Given the description of an element on the screen output the (x, y) to click on. 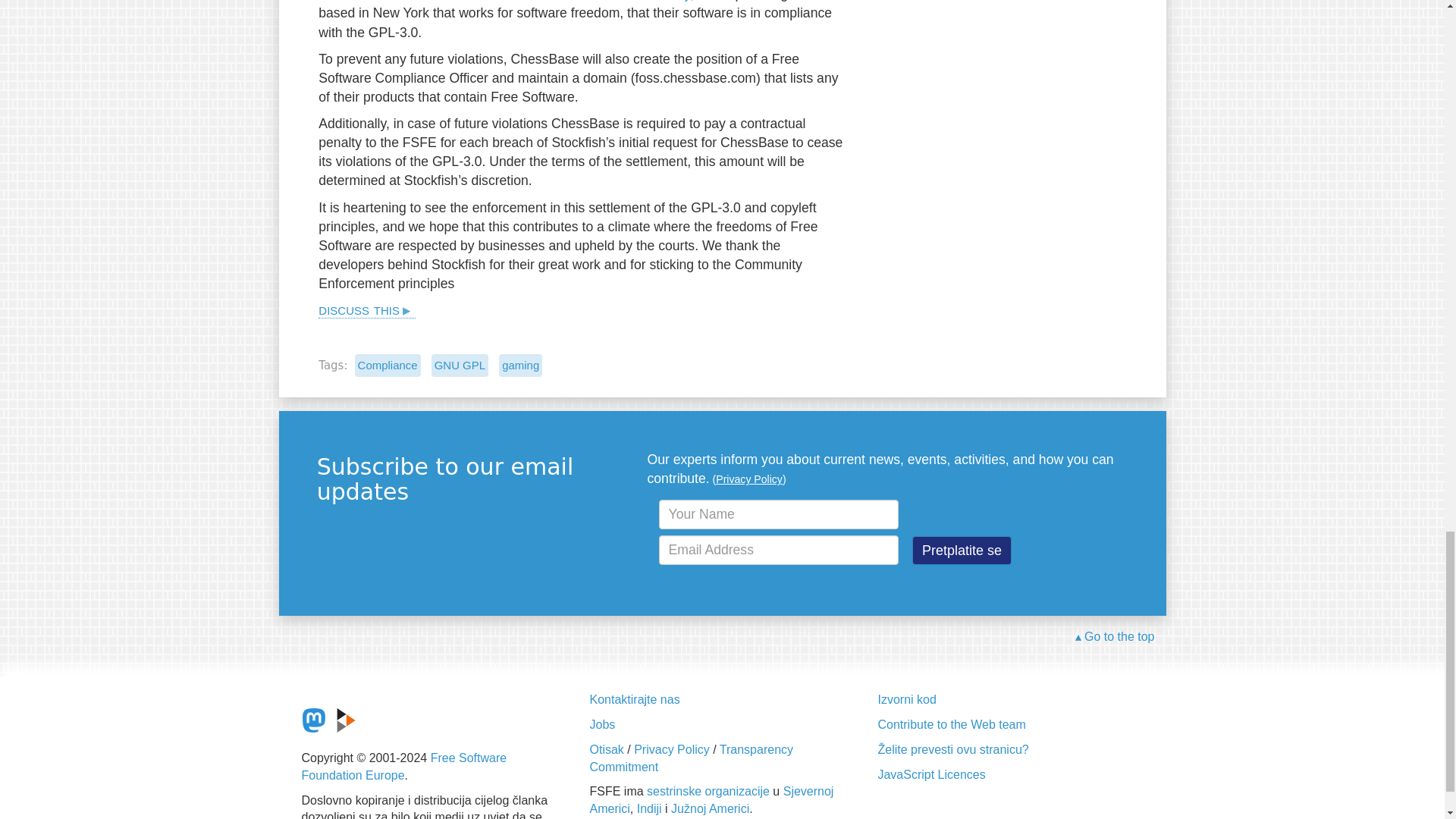
gaming (520, 364)
Free Software Foundation Europe (403, 766)
Go to the top (1114, 637)
Compliance (387, 364)
Pretplatite se (961, 550)
Pretplatite se (961, 550)
Privacy Policy (749, 479)
Peertube (345, 720)
Kontaktirajte nas (634, 698)
discuss this (366, 309)
Mastodon (313, 720)
GNU GPL (458, 364)
